Given the description of an element on the screen output the (x, y) to click on. 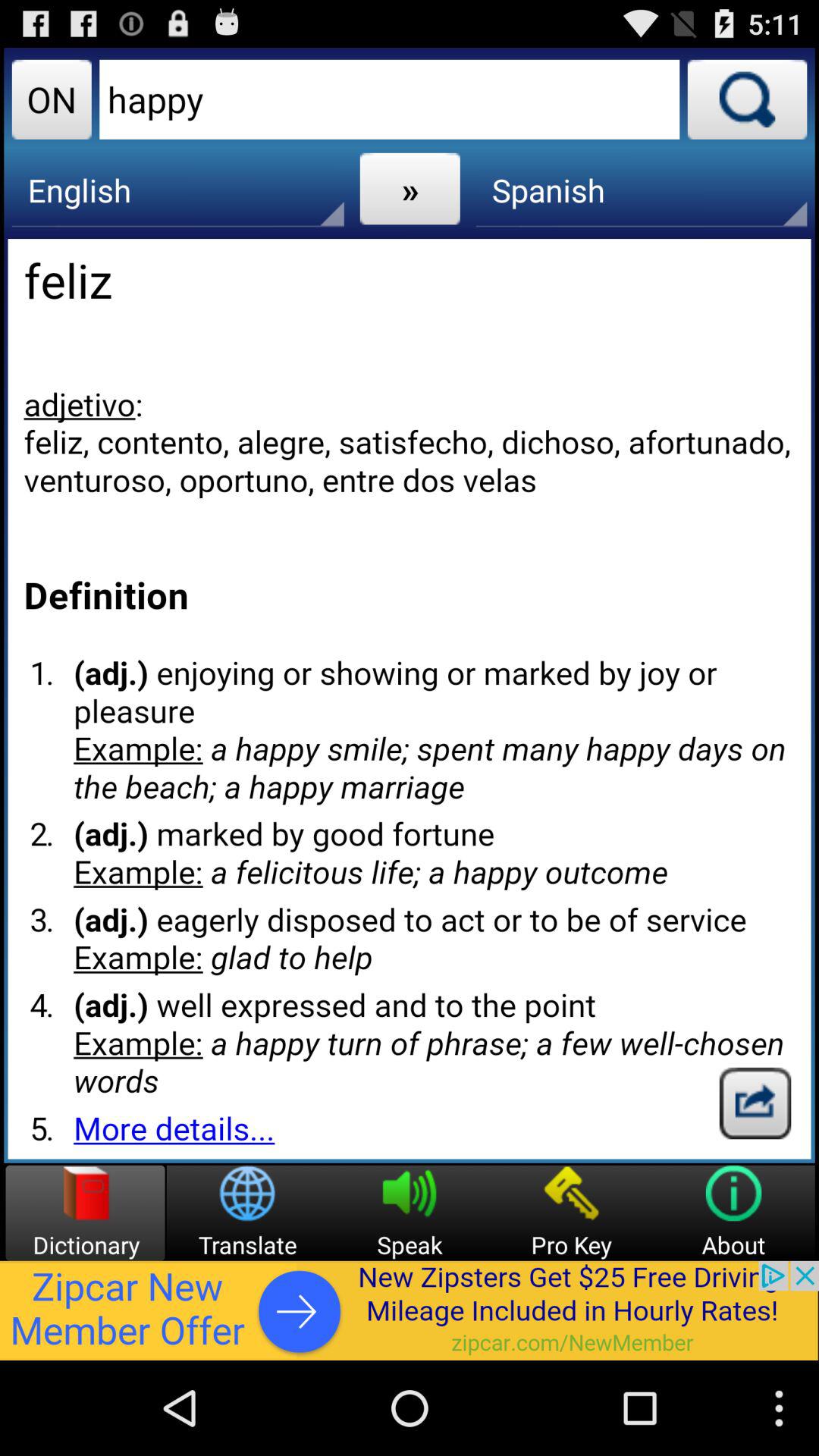
view the adversitement (409, 1310)
